Given the description of an element on the screen output the (x, y) to click on. 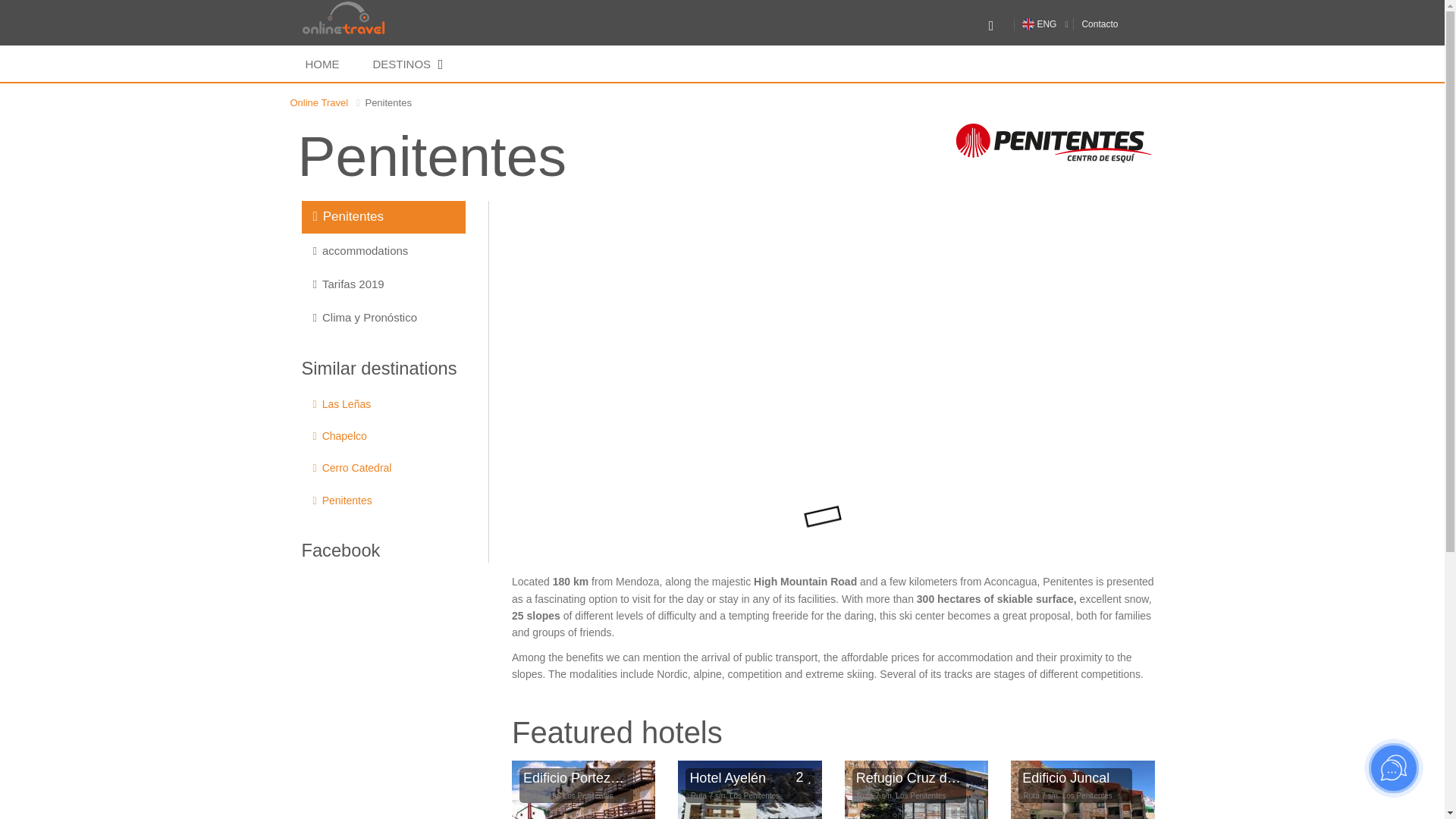
Tarifas 2019 (383, 284)
Image Title (1027, 24)
ENG (1039, 23)
Online Travel (318, 102)
DESTINOS (406, 63)
HOME (321, 63)
Penitentes (1054, 142)
Edificio Juncal (1082, 789)
Penitentes (383, 216)
accommodations (383, 250)
